Given the description of an element on the screen output the (x, y) to click on. 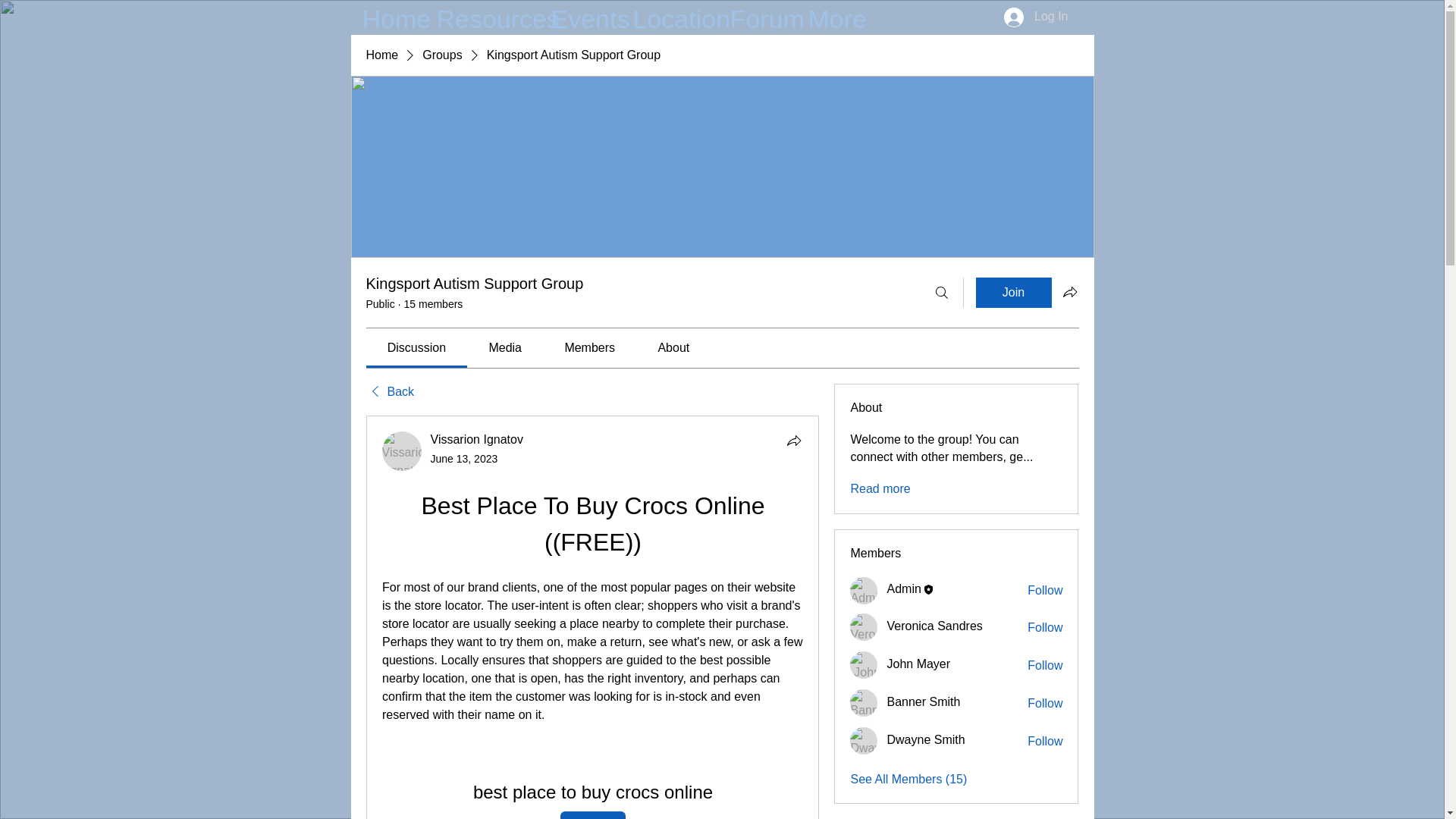
Dwayne Smith (863, 740)
Log In (1035, 17)
Veronica Sandres (863, 626)
Events (580, 16)
Back (389, 392)
Read more (880, 488)
Groups (441, 54)
Follow (1044, 703)
Home (387, 16)
June 13, 2023 (463, 458)
Location (670, 16)
Follow (1044, 665)
Follow (1044, 741)
Admin (863, 590)
Follow (1044, 627)
